Given the description of an element on the screen output the (x, y) to click on. 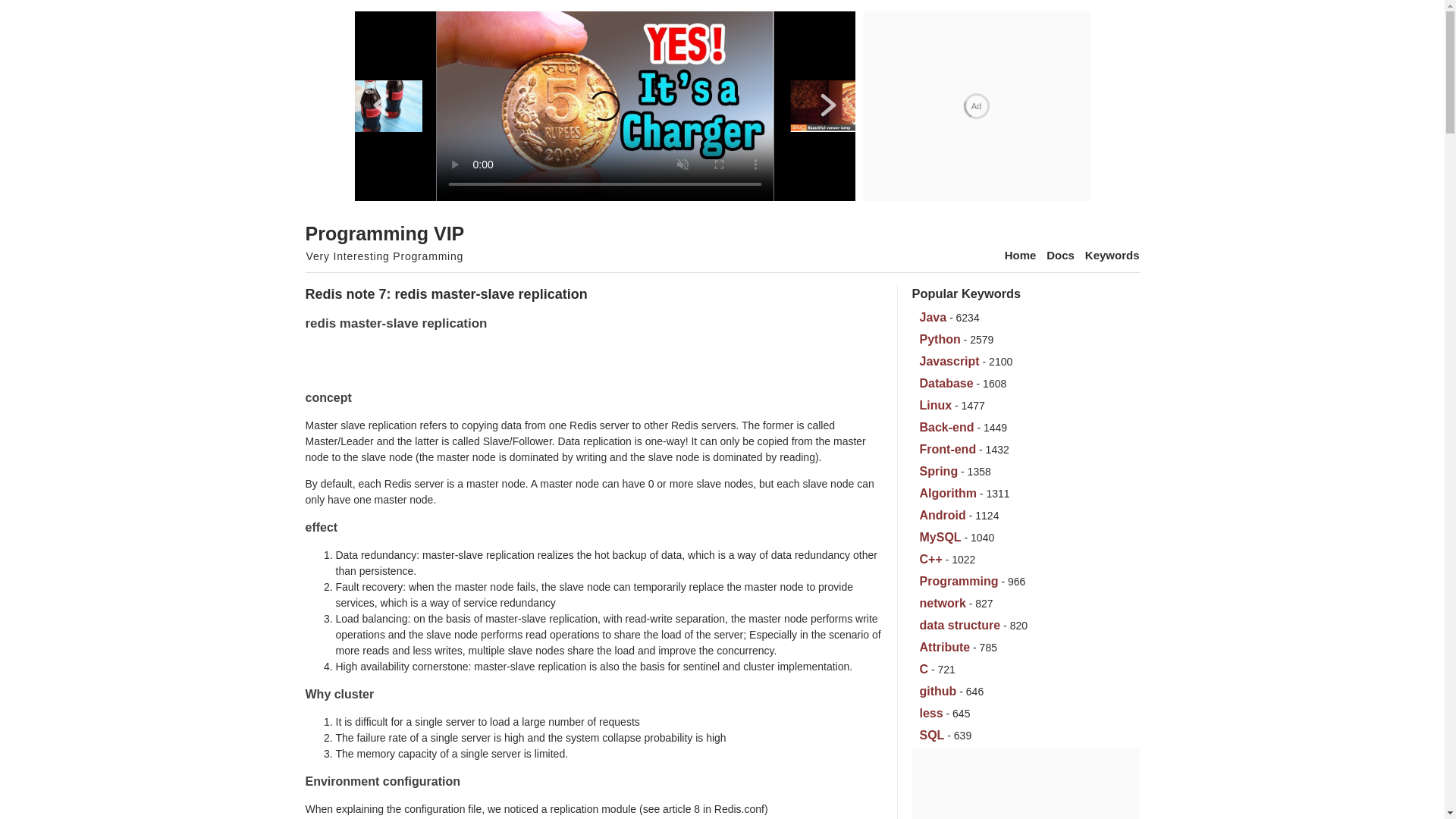
Docs (1060, 254)
Algorithm (947, 492)
Programming VIP (384, 233)
less (930, 712)
MySQL (939, 536)
Home (1020, 254)
Keywords (1112, 254)
Java (932, 317)
Back-end (946, 427)
Linux (935, 404)
